Given the description of an element on the screen output the (x, y) to click on. 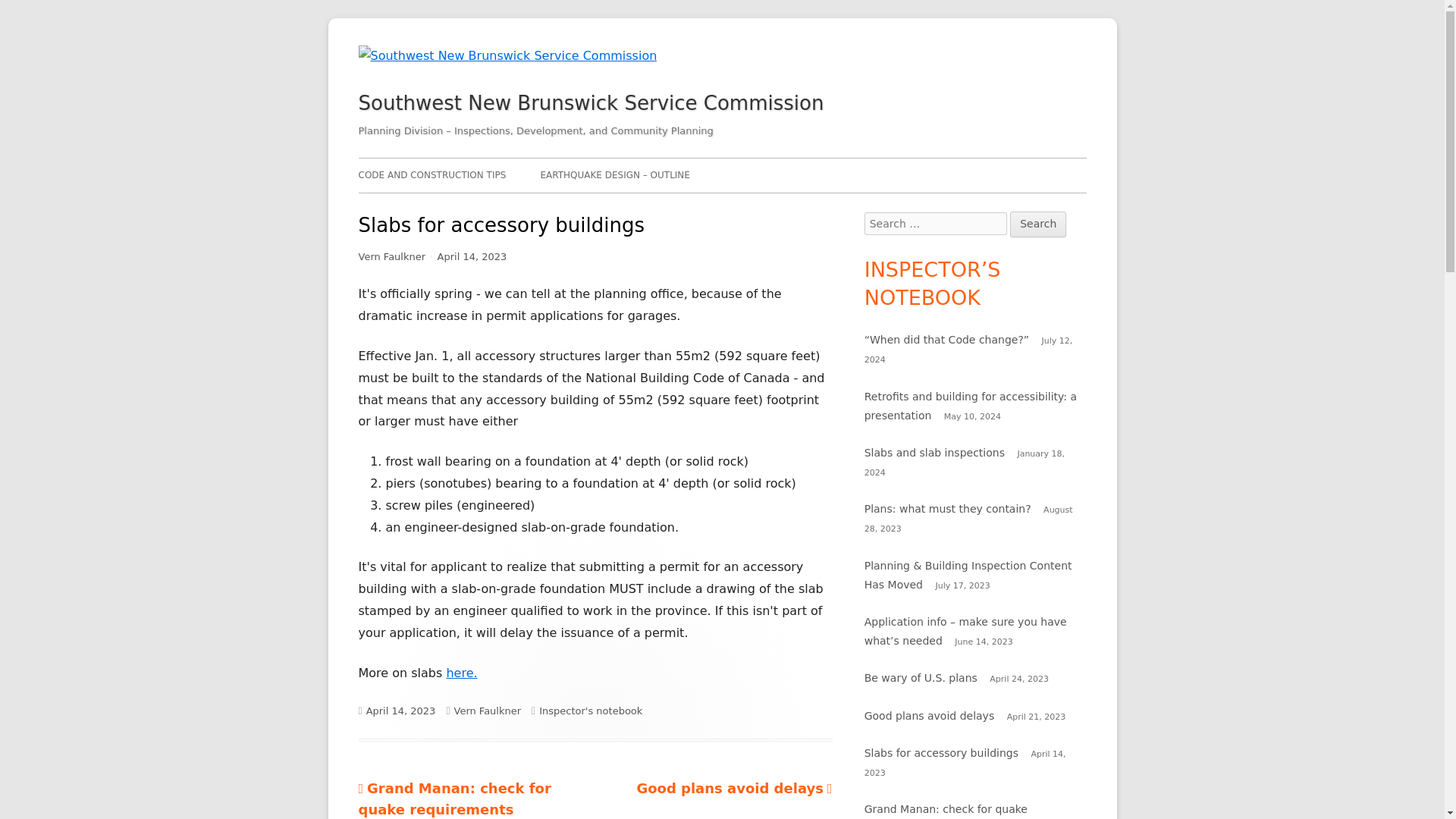
Plans: what must they contain? (733, 788)
Search (947, 508)
Retrofits and building for accessibility: a presentation (454, 798)
Good plans avoid delays (1037, 224)
Inspector's notebook (970, 405)
Search (929, 715)
here. (590, 710)
Slabs for accessory buildings (1037, 224)
